Given the description of an element on the screen output the (x, y) to click on. 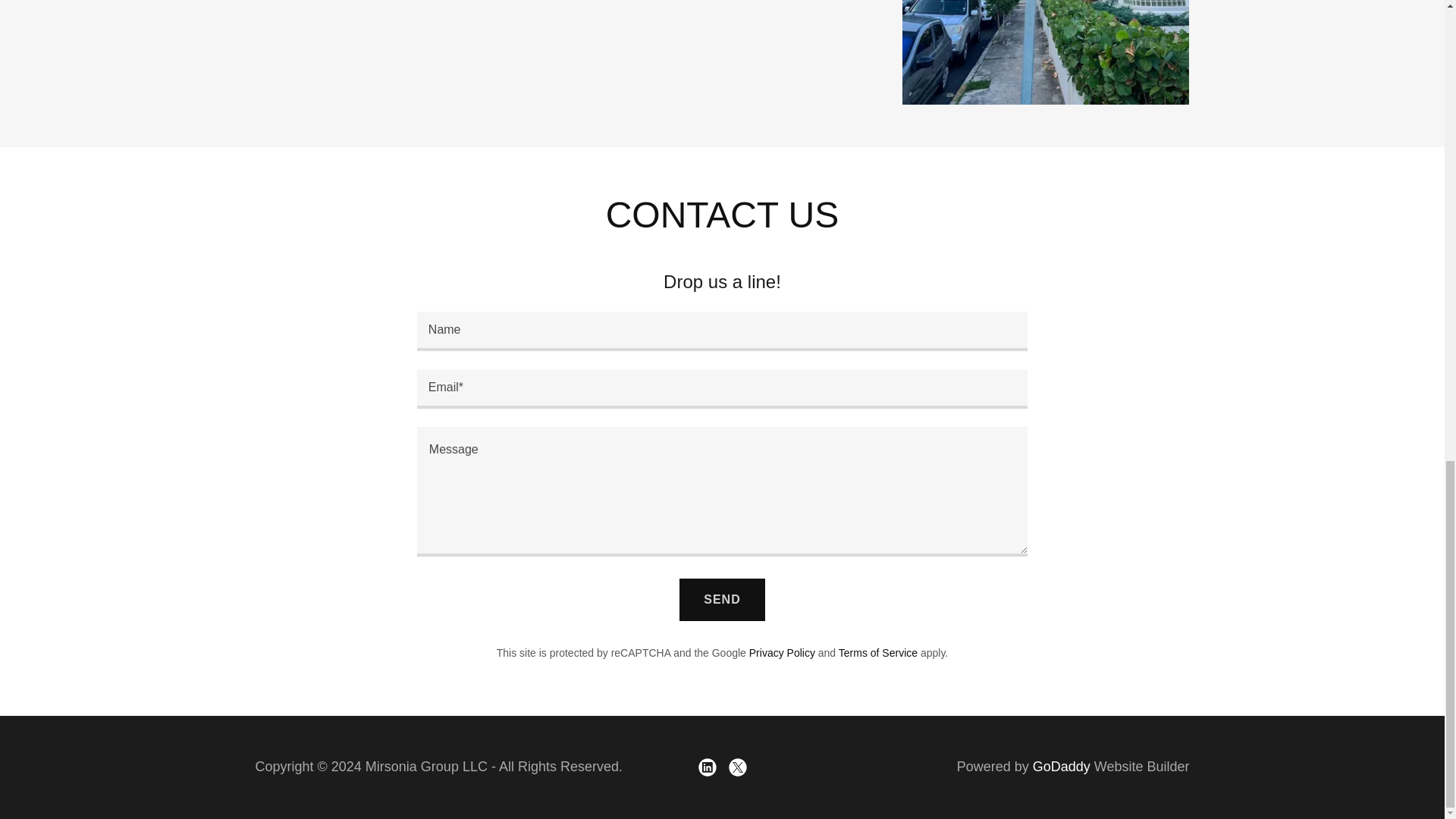
Privacy Policy (782, 653)
GoDaddy (1061, 766)
SEND (722, 599)
Terms of Service (877, 653)
